Given the description of an element on the screen output the (x, y) to click on. 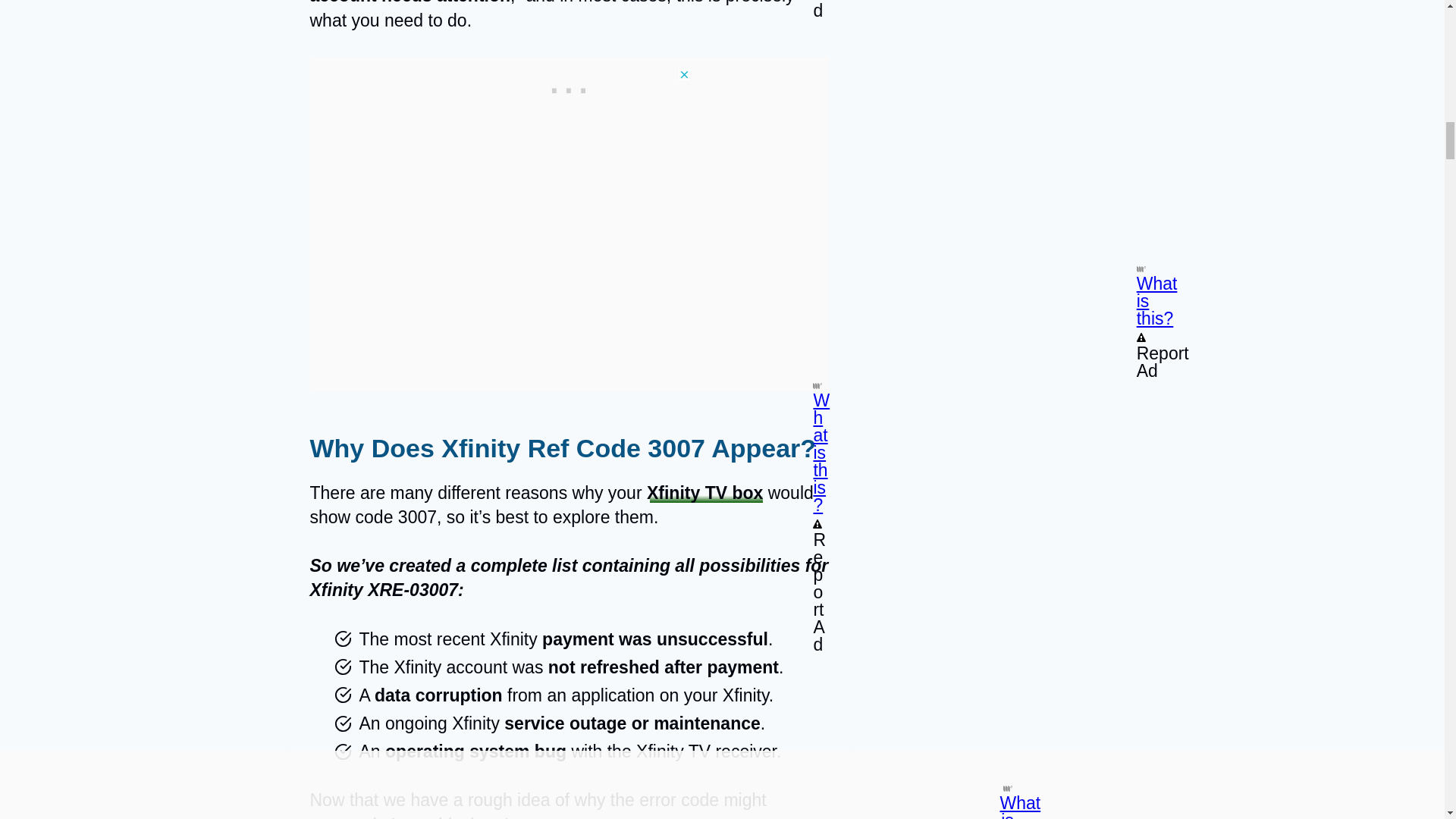
Xfinity TV box (704, 492)
3rd party ad content (569, 75)
